Given the description of an element on the screen output the (x, y) to click on. 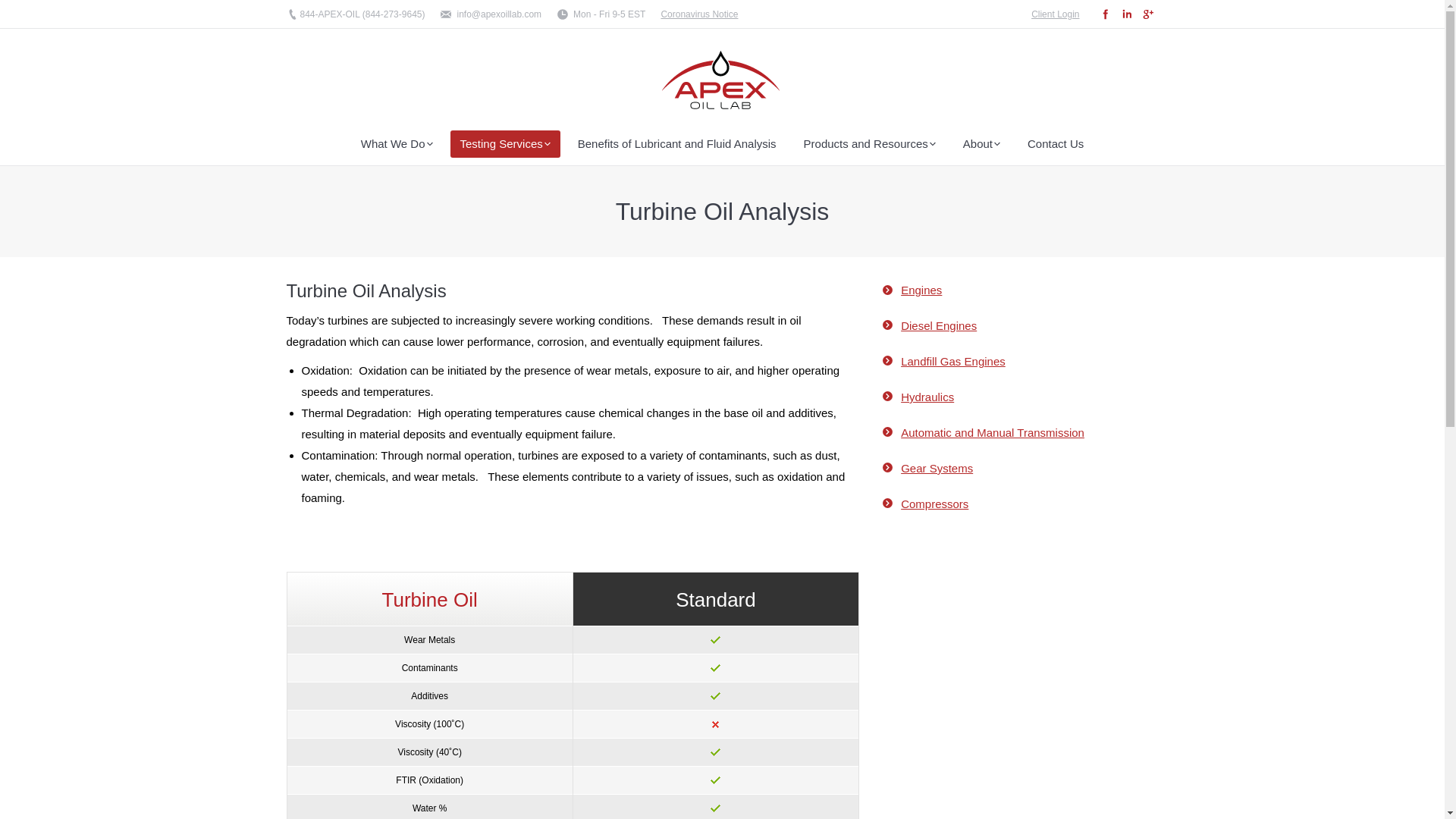
Gear Systems (936, 468)
Benefits of Lubricant and Fluid Analysis (676, 144)
Automatic and Manual Transmission (992, 431)
Engine Oil Analysis (921, 289)
About (981, 144)
Compressors (934, 503)
Testing Services (504, 144)
Linkedin (1126, 13)
Lanfill Gas Engines (953, 360)
Facebook (1105, 13)
